Given the description of an element on the screen output the (x, y) to click on. 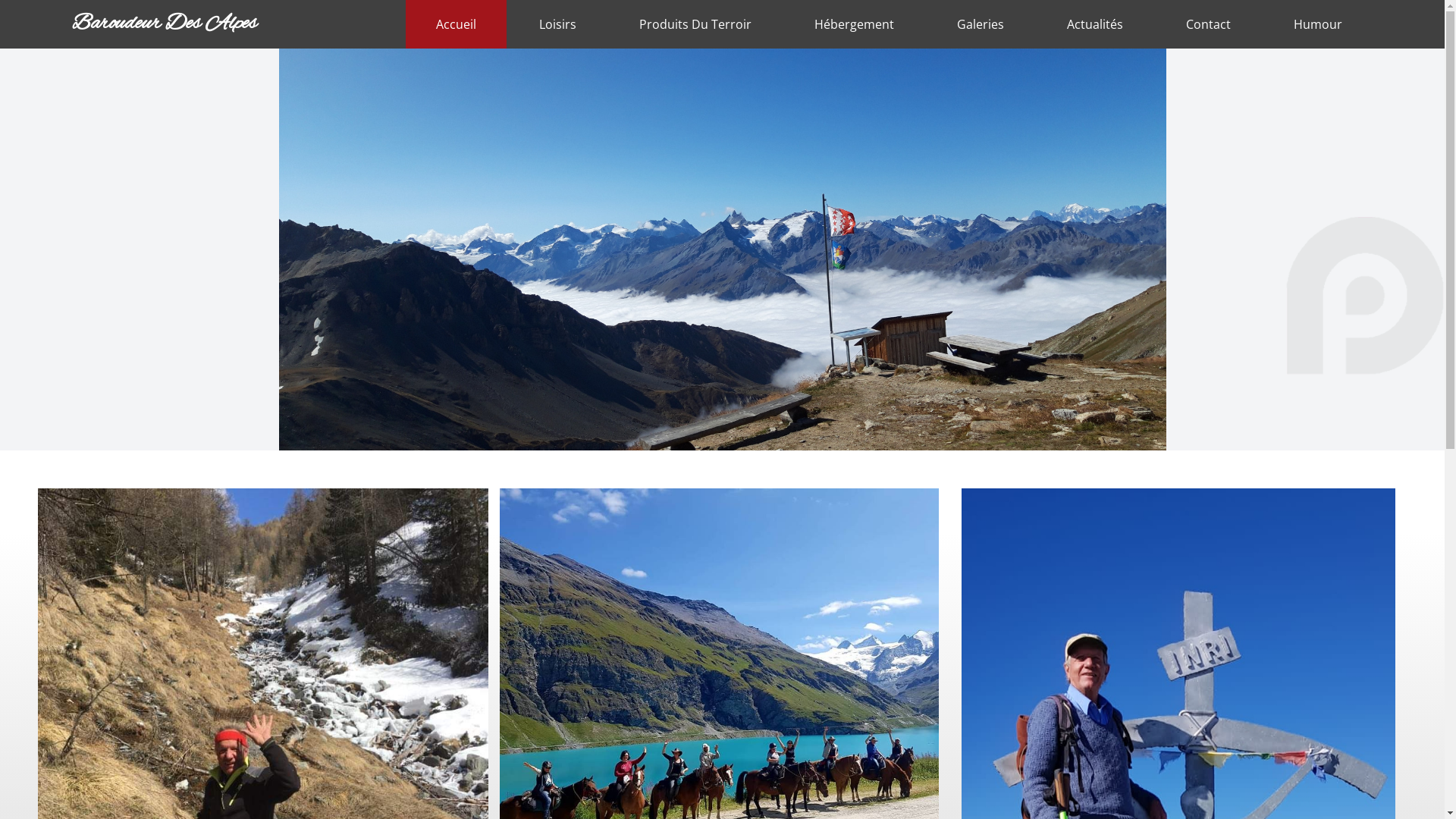
Accueil Element type: text (455, 24)
Humour Element type: text (1317, 24)
banner1_test Element type: hover (722, 249)
Baroudeur Des Alpes Element type: text (225, 24)
Galeries Element type: text (980, 24)
Contact Element type: text (1208, 24)
Produits Du Terroir Element type: text (694, 24)
Loisirs Element type: text (557, 24)
